Given the description of an element on the screen output the (x, y) to click on. 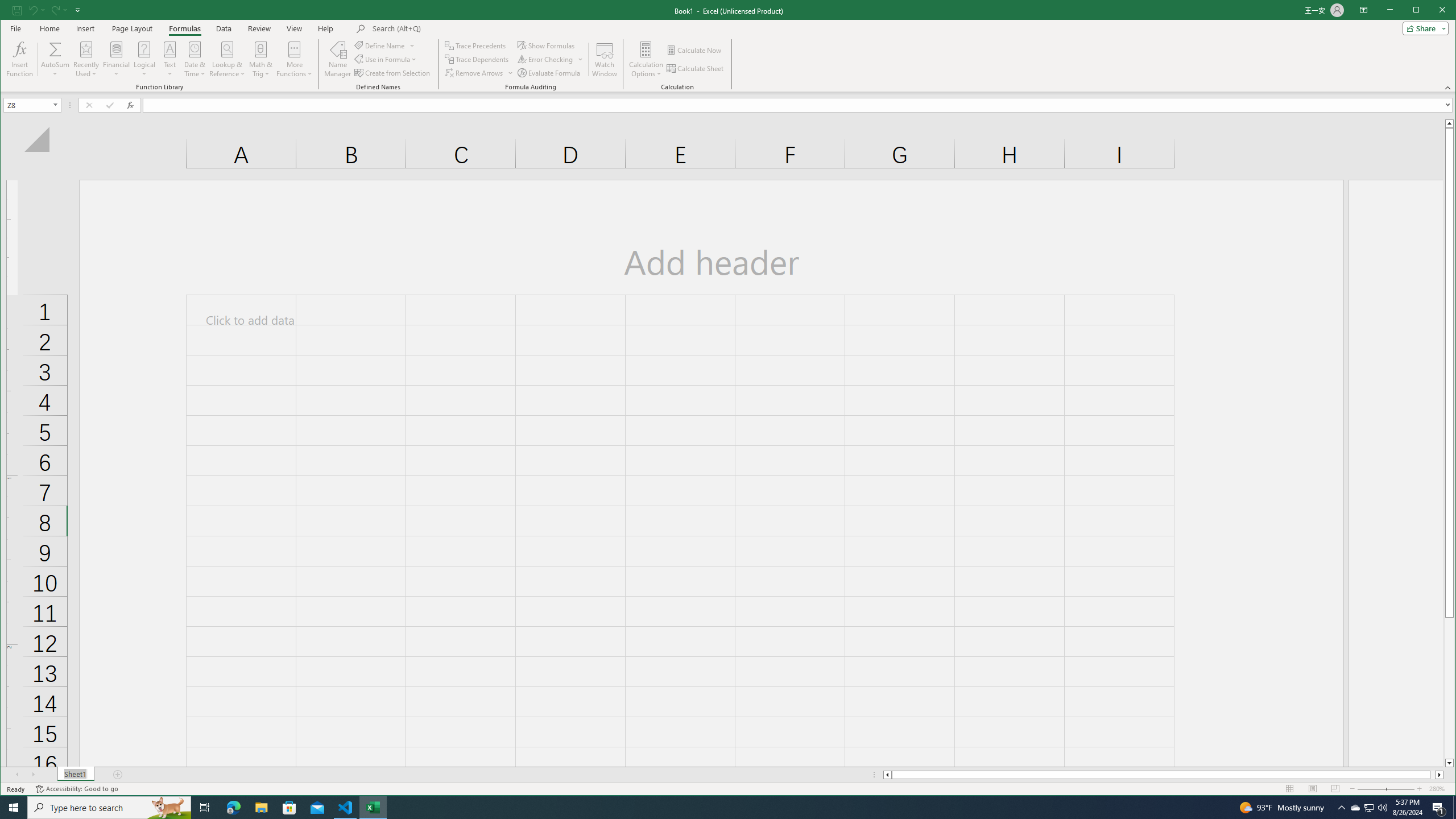
Search highlights icon opens search home window (167, 807)
Name Manager (337, 59)
Show Formulas (546, 45)
Evaluate Formula (549, 72)
Define Name... (379, 45)
Error Checking... (545, 59)
Watch Window (604, 59)
